Given the description of an element on the screen output the (x, y) to click on. 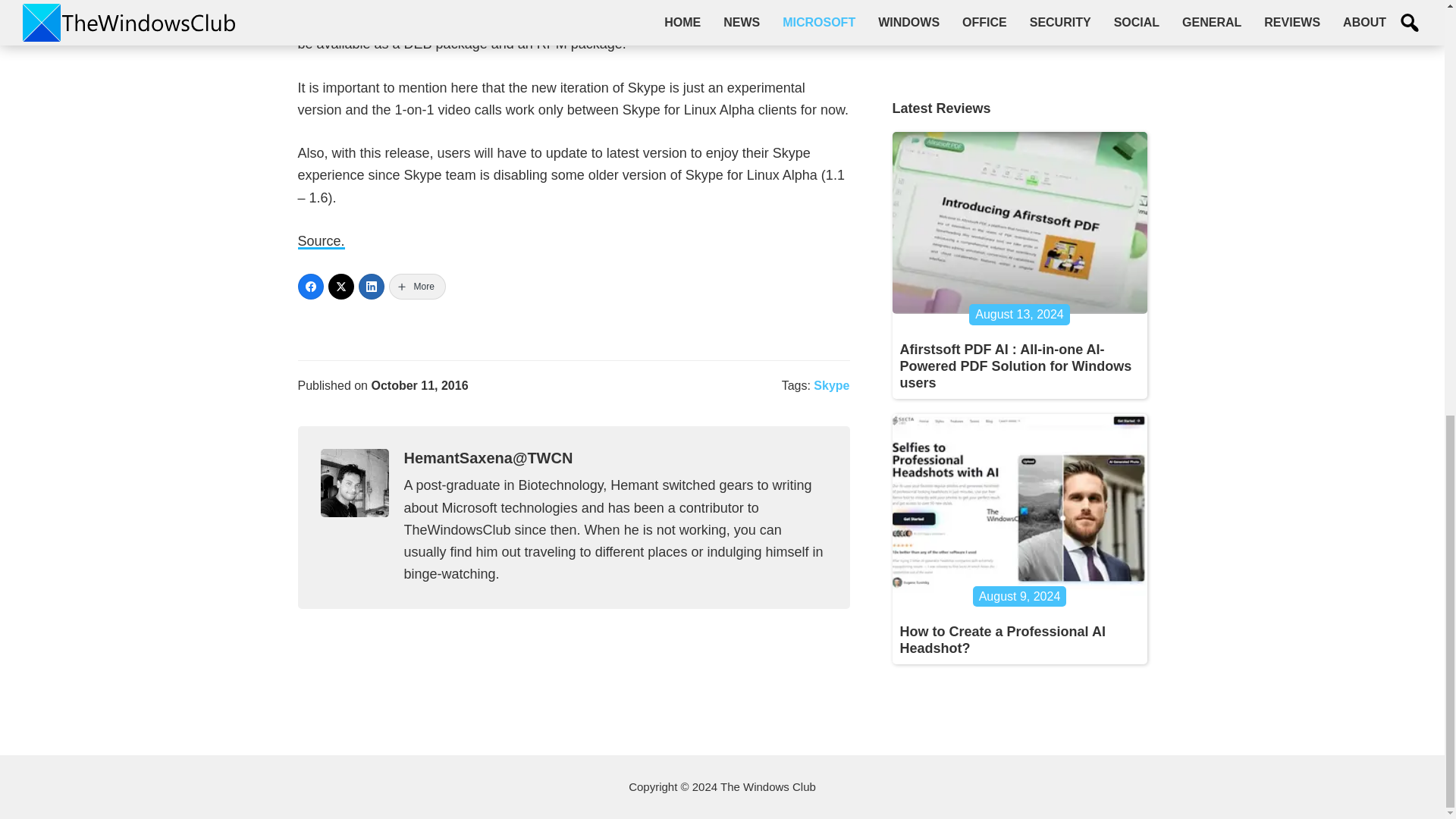
Source. (320, 241)
More (416, 286)
WiFi keeps asking for password on Windows laptop (1012, 15)
How to Create a Professional AI Headshot? (1002, 640)
Skype (830, 385)
